Given the description of an element on the screen output the (x, y) to click on. 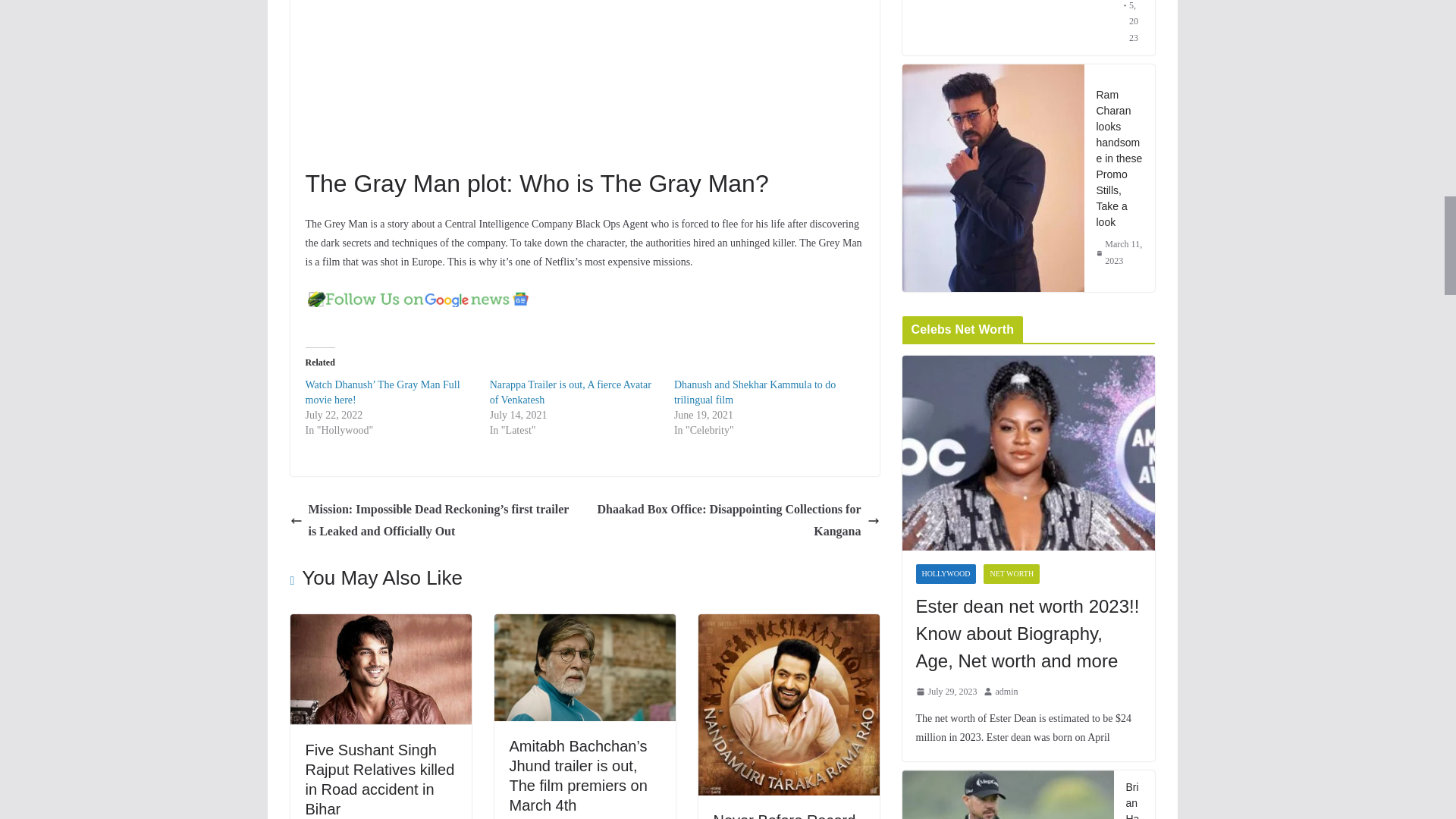
Dhanush and Shekhar Kammula to do trilingual film (754, 392)
Dhaakad Box Office: Disappointing Collections for Kangana (735, 520)
Never Before Record set by NTR Fans (784, 815)
Never Before Record set by NTR Fans (788, 624)
Narappa Trailer is out, A fierce Avatar of Venkatesh (569, 392)
Dhanush and Shekhar Kammula to do trilingual film (754, 392)
Narappa Trailer is out, A fierce Avatar of Venkatesh (569, 392)
YouTube video player (516, 80)
